Given the description of an element on the screen output the (x, y) to click on. 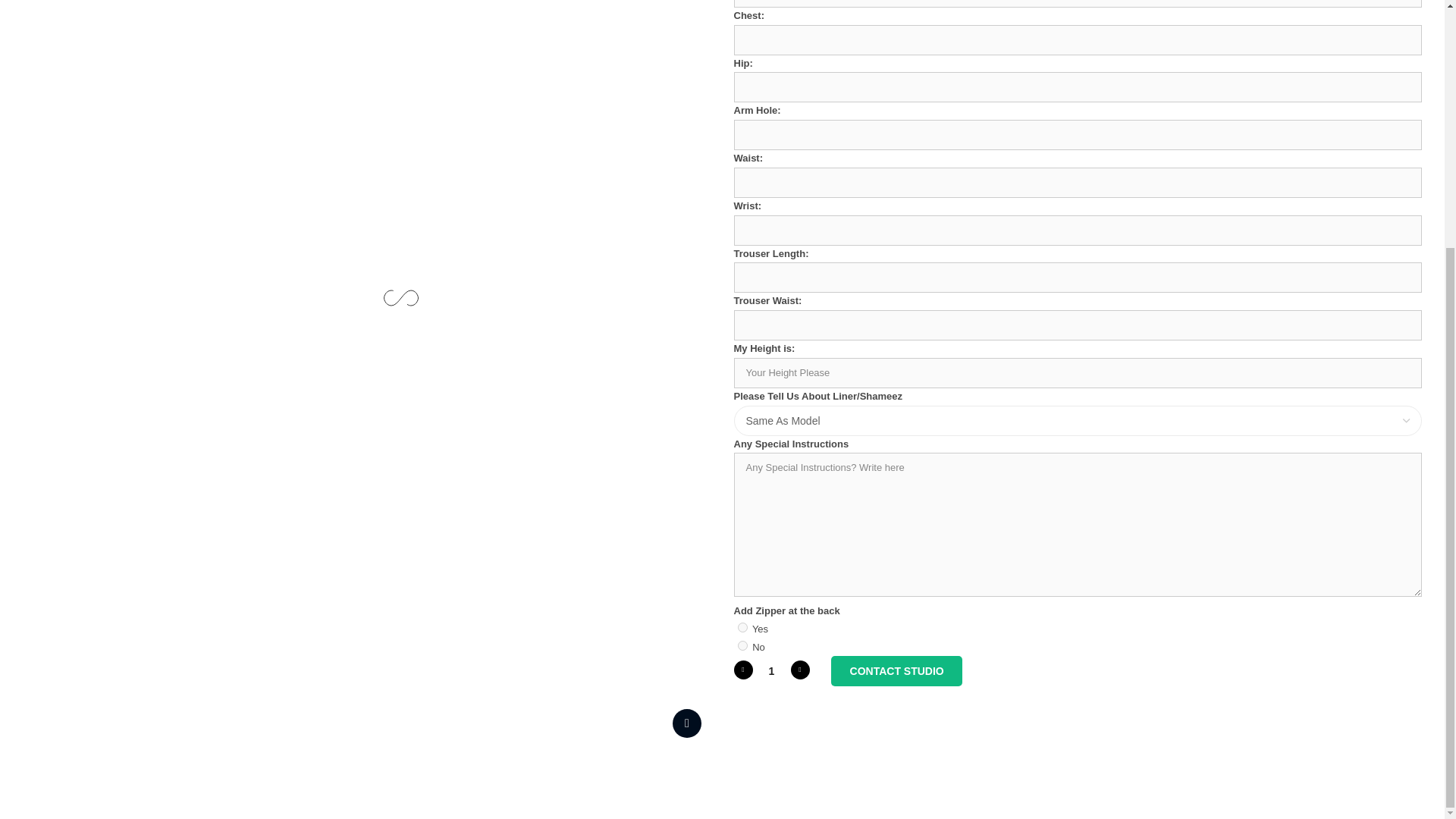
No (741, 645)
1 (771, 670)
Yes (741, 627)
